Given the description of an element on the screen output the (x, y) to click on. 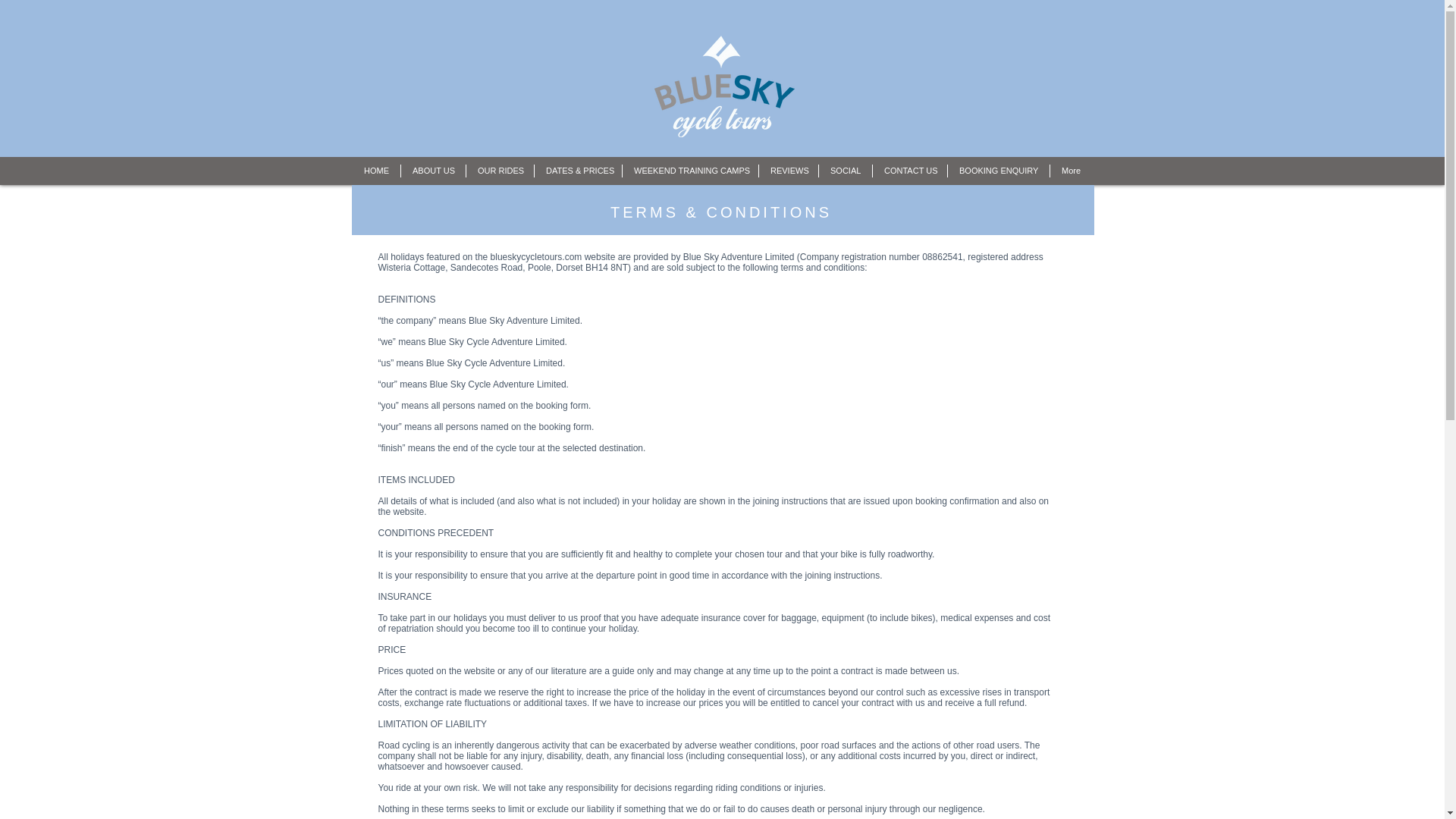
ABOUT US (433, 170)
Blue-Cycle-Tours-WHTMixLogo.png (723, 86)
SOCIAL (845, 170)
CONTACT US (909, 170)
REVIEWS (788, 170)
HOME (376, 170)
WEEKEND TRAINING CAMPS (690, 170)
BOOKING ENQUIRY (998, 170)
More (1070, 170)
